Given the description of an element on the screen output the (x, y) to click on. 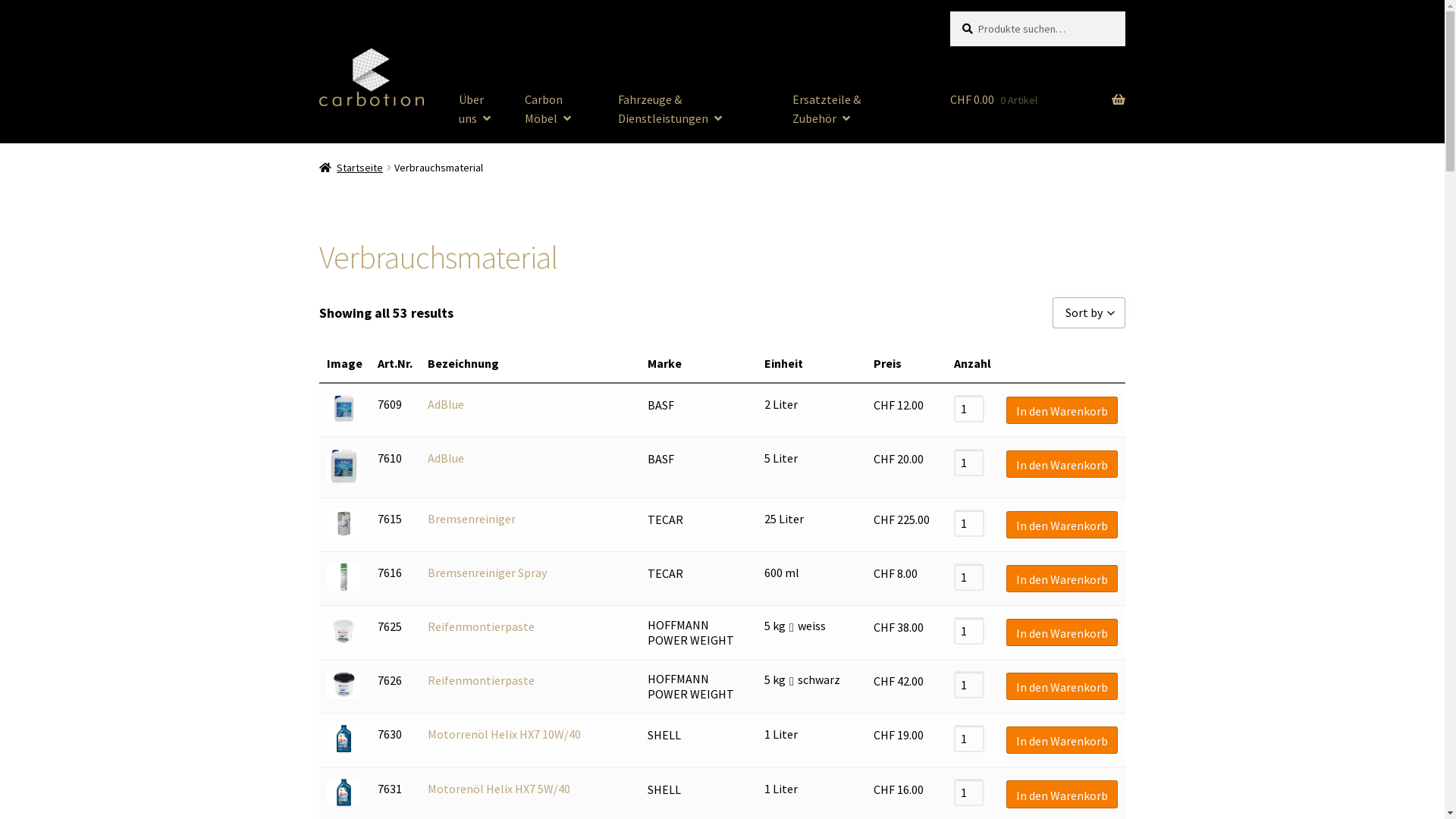
47-Bild 6 Element type: hover (343, 684)
Bremsenreiniger Element type: text (471, 518)
Bremsenreiniger Spray Element type: text (486, 572)
CHF 0.00 0 Artikel Element type: text (1037, 77)
Quantity Element type: hover (968, 462)
53-Bild 2 Element type: hover (343, 408)
Fahrzeuge & Dienstleistungen Element type: text (693, 109)
Quantity Element type: hover (968, 630)
Quantity Element type: hover (968, 792)
In den Warenkorb Element type: text (1061, 524)
Quantity Element type: hover (968, 523)
Reifenmontierpaste Element type: text (480, 679)
50-Bild 4 Element type: hover (343, 576)
In den Warenkorb Element type: text (1061, 578)
Quantity Element type: hover (968, 684)
Quantity Element type: hover (968, 576)
46-Bild 8 Element type: hover (343, 792)
AdBlue Element type: text (445, 403)
Quantity Element type: hover (968, 738)
Startseite Element type: text (351, 167)
Quantity Element type: hover (968, 408)
In den Warenkorb Element type: text (1061, 632)
In den Warenkorb Element type: text (1061, 793)
48-Bild 7 Element type: hover (343, 738)
Reifenmontierpaste Element type: text (480, 625)
49-Bild 5 Element type: hover (343, 630)
51-Bild 3 Element type: hover (343, 522)
AdBlue Element type: text (445, 457)
In den Warenkorb Element type: text (1061, 739)
In den Warenkorb Element type: text (1061, 463)
Suche Element type: text (949, 10)
In den Warenkorb Element type: text (1061, 685)
52-Bild 1 Element type: hover (343, 465)
In den Warenkorb Element type: text (1061, 409)
